Given the description of an element on the screen output the (x, y) to click on. 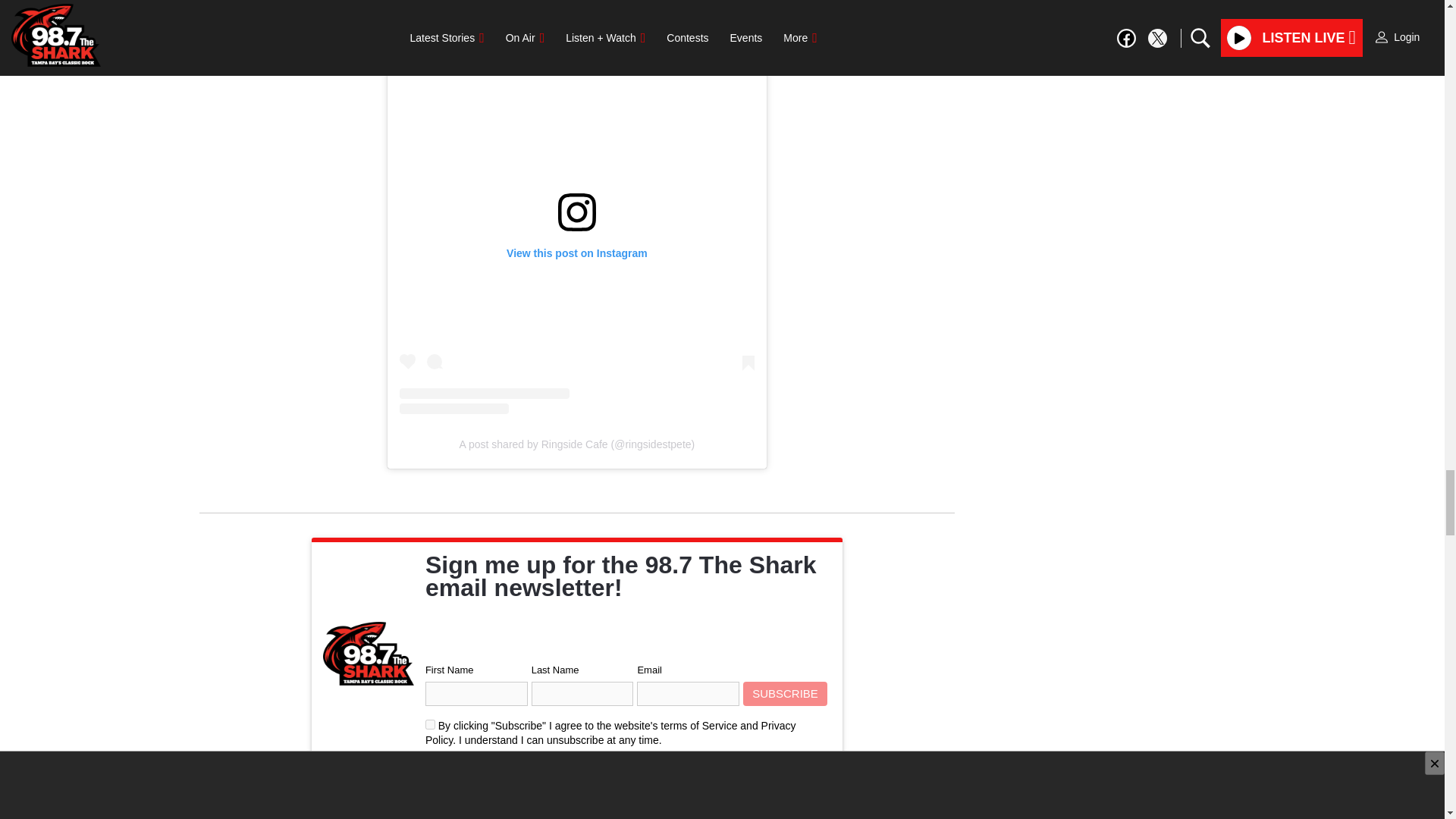
Jen Glorioso (397, 802)
Ted Kamikaze (288, 802)
on (430, 724)
